Given the description of an element on the screen output the (x, y) to click on. 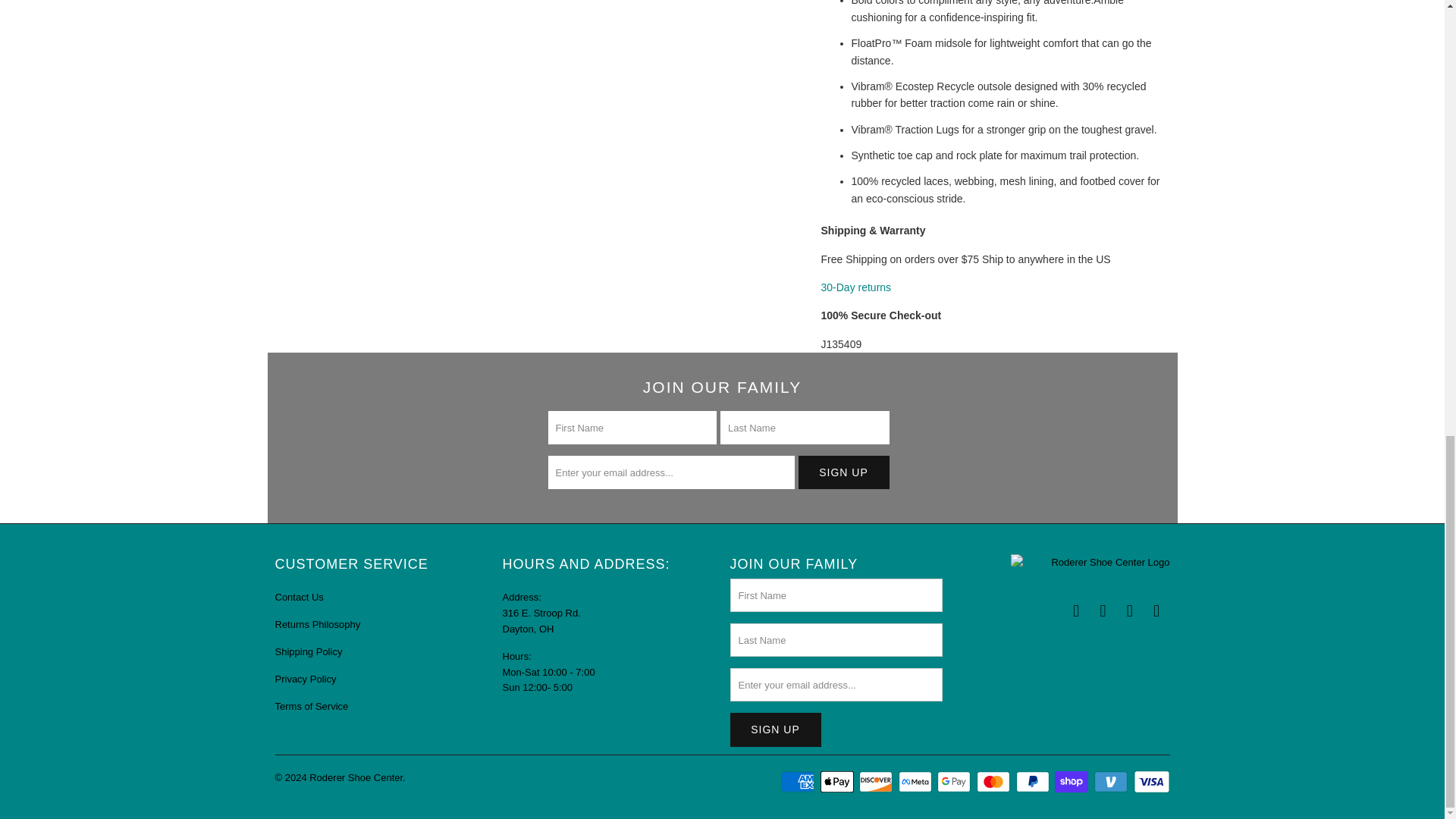
Meta Pay (916, 781)
PayPal (1034, 781)
Roderer Shoe Center on Facebook (1076, 610)
Visa (1150, 781)
Venmo (1112, 781)
Google Pay (955, 781)
Apple Pay (839, 781)
Sign Up (842, 471)
American Express (798, 781)
Sign Up (775, 729)
Discover (877, 781)
Shop Pay (1072, 781)
Mastercard (994, 781)
